Given the description of an element on the screen output the (x, y) to click on. 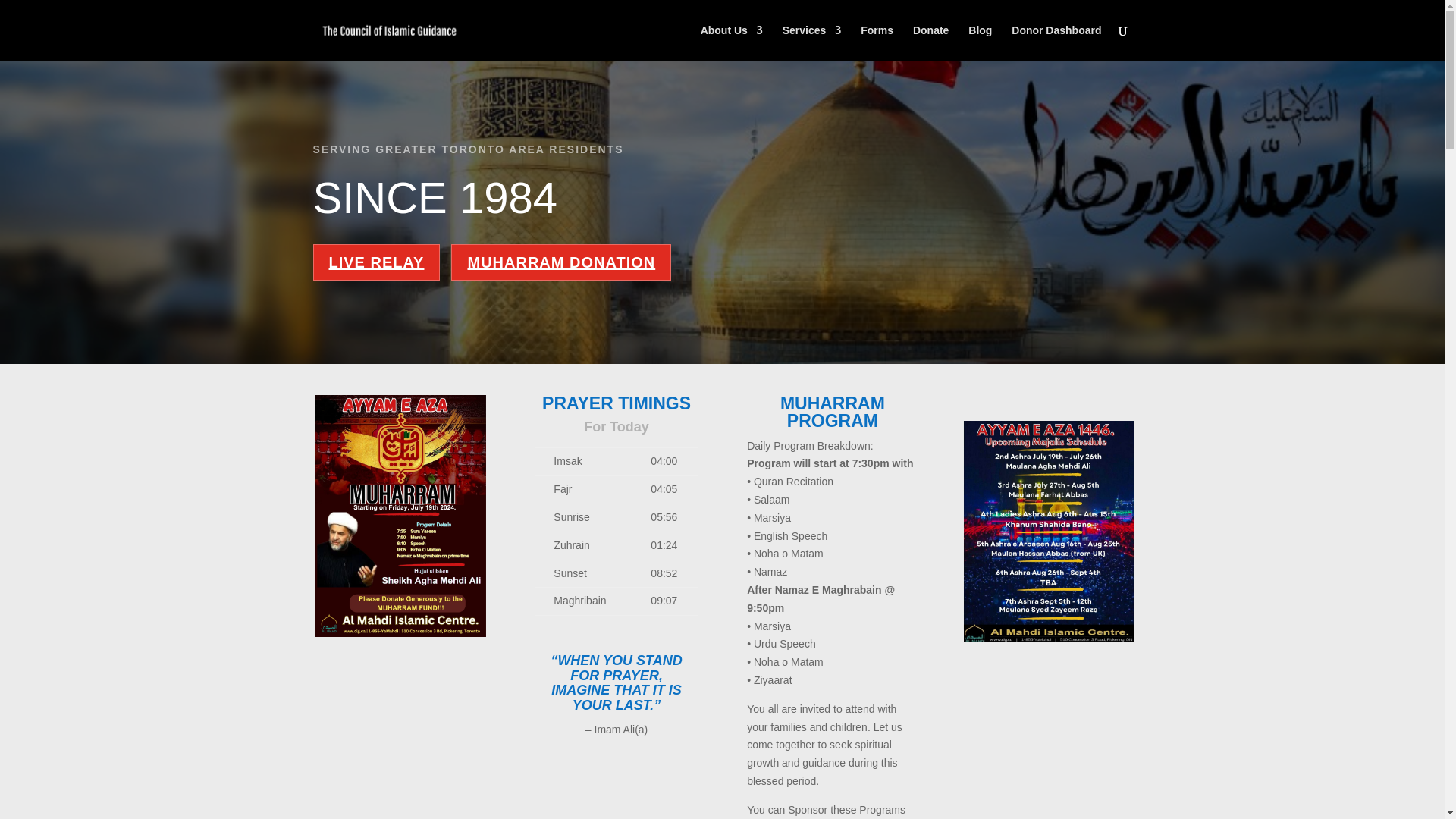
Donor Dashboard (1055, 42)
Forms (876, 42)
About Us (731, 42)
Donate (930, 42)
Ayyam-e-aza2024 (1048, 531)
Services (812, 42)
Blog (979, 42)
